Given the description of an element on the screen output the (x, y) to click on. 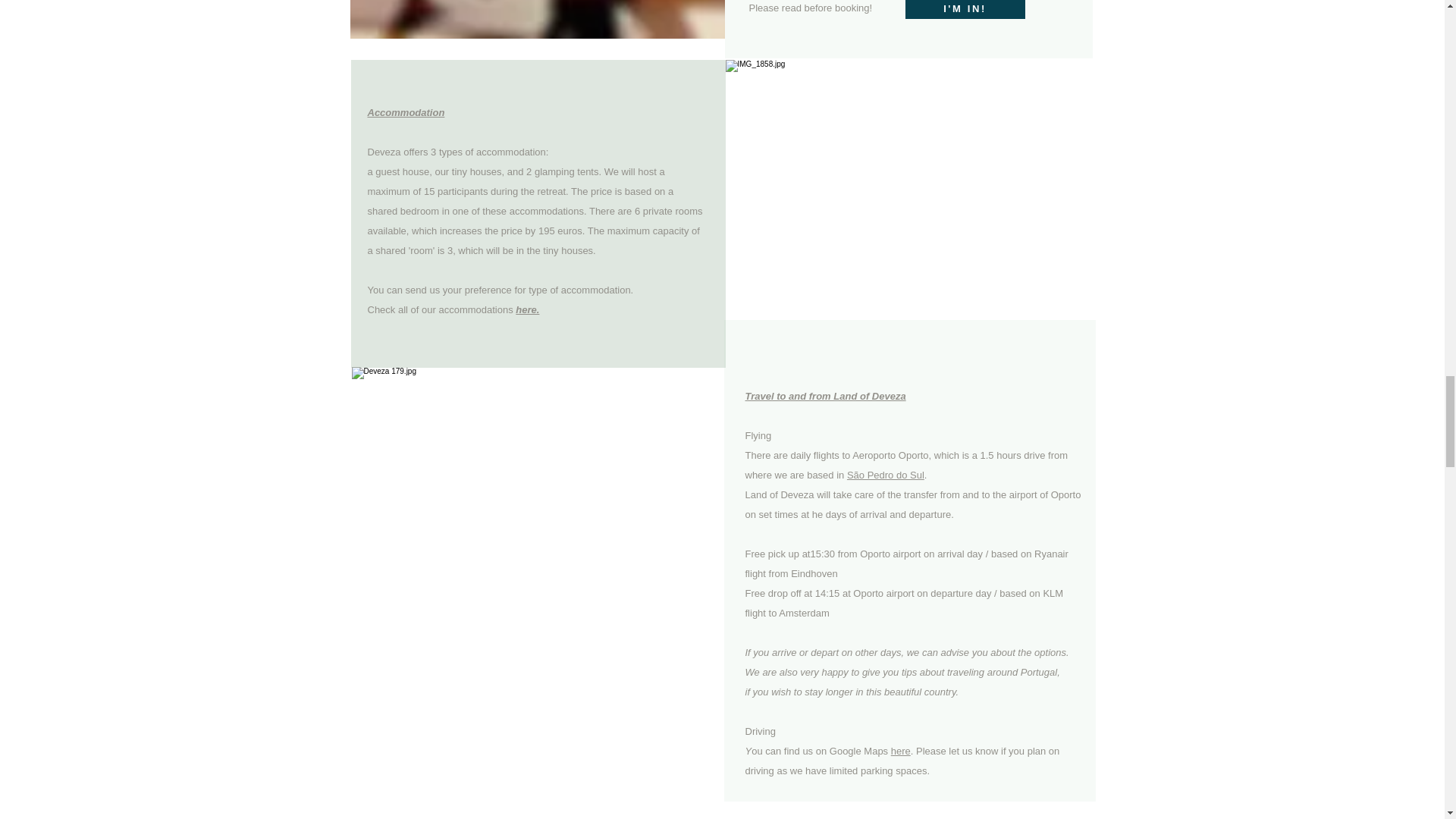
I'M IN! (965, 9)
here. (526, 309)
here (901, 750)
